Given the description of an element on the screen output the (x, y) to click on. 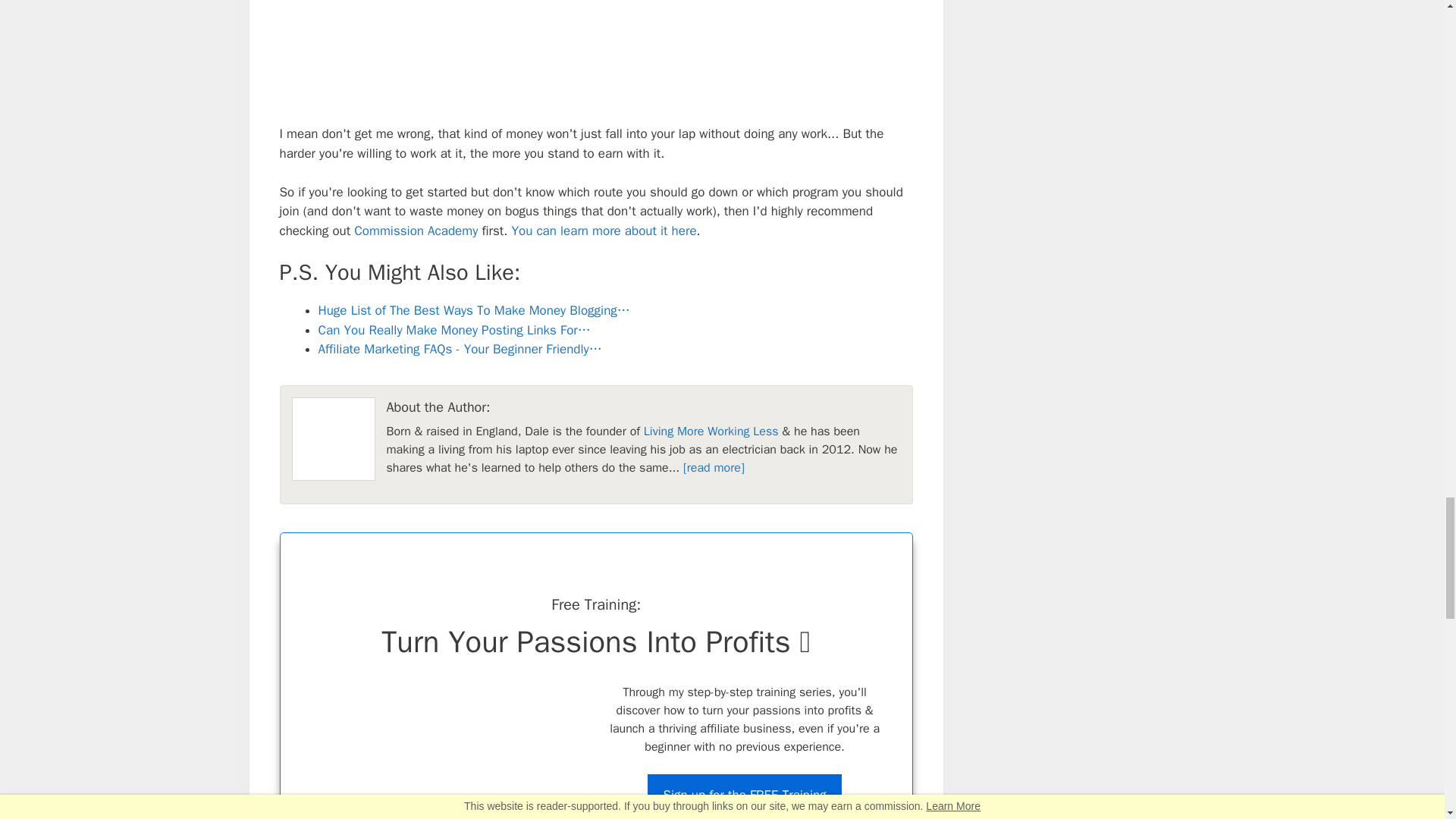
You can learn more about it here (603, 230)
Living More Working Less (710, 431)
Commission Academy (415, 230)
Read More (713, 467)
Sign up for the FREE Training (744, 794)
